Given the description of an element on the screen output the (x, y) to click on. 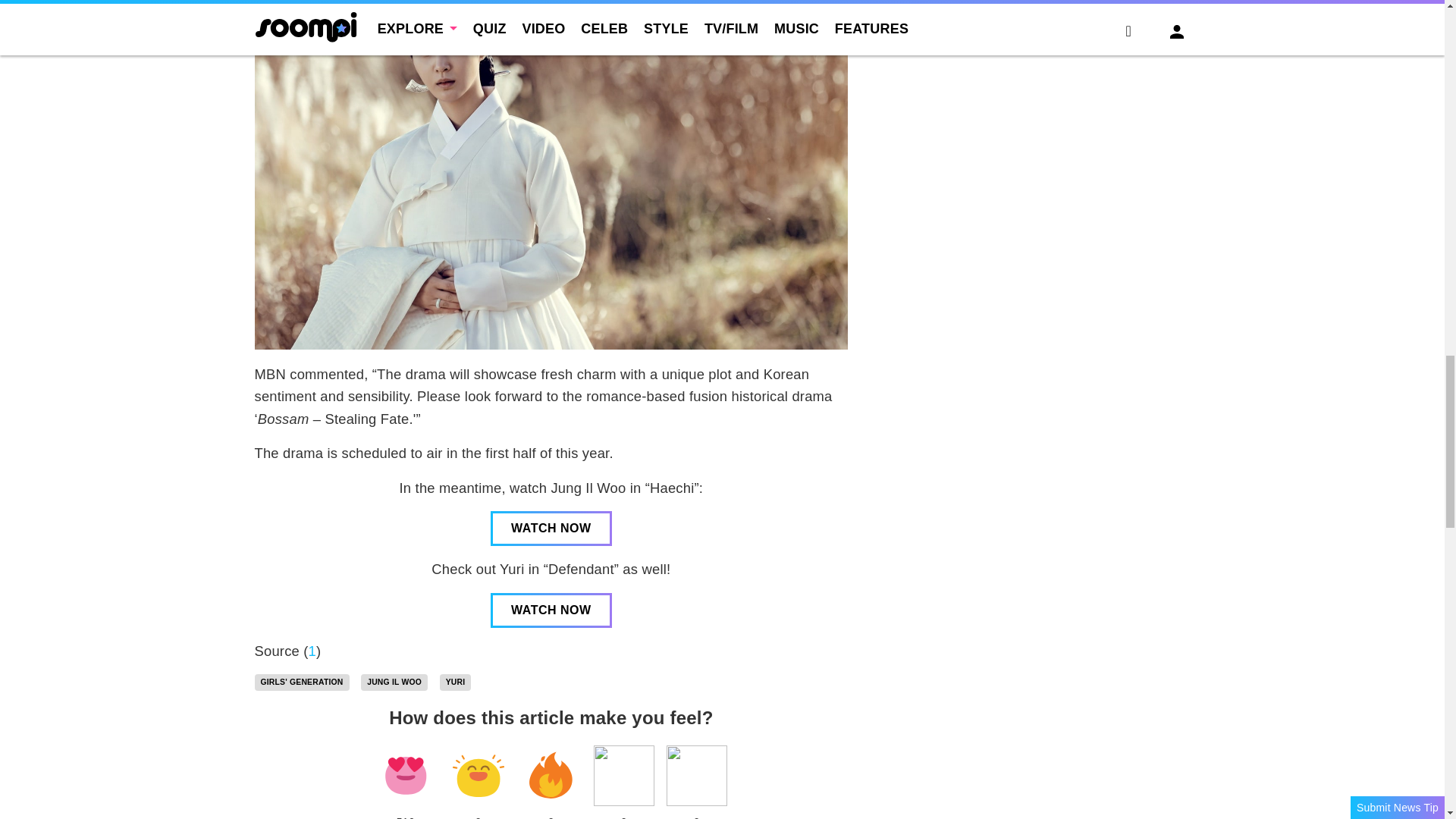
WATCH NOW (550, 528)
Jung Il Woo (394, 682)
LOL (478, 775)
Crying (623, 775)
WATCH NOW (550, 610)
GIRLS' GENERATION (301, 682)
JUNG IL WOO (394, 682)
Yuri (455, 682)
Girls' Generation (301, 682)
Fire (550, 775)
Heart (405, 775)
OMG (696, 775)
